Given the description of an element on the screen output the (x, y) to click on. 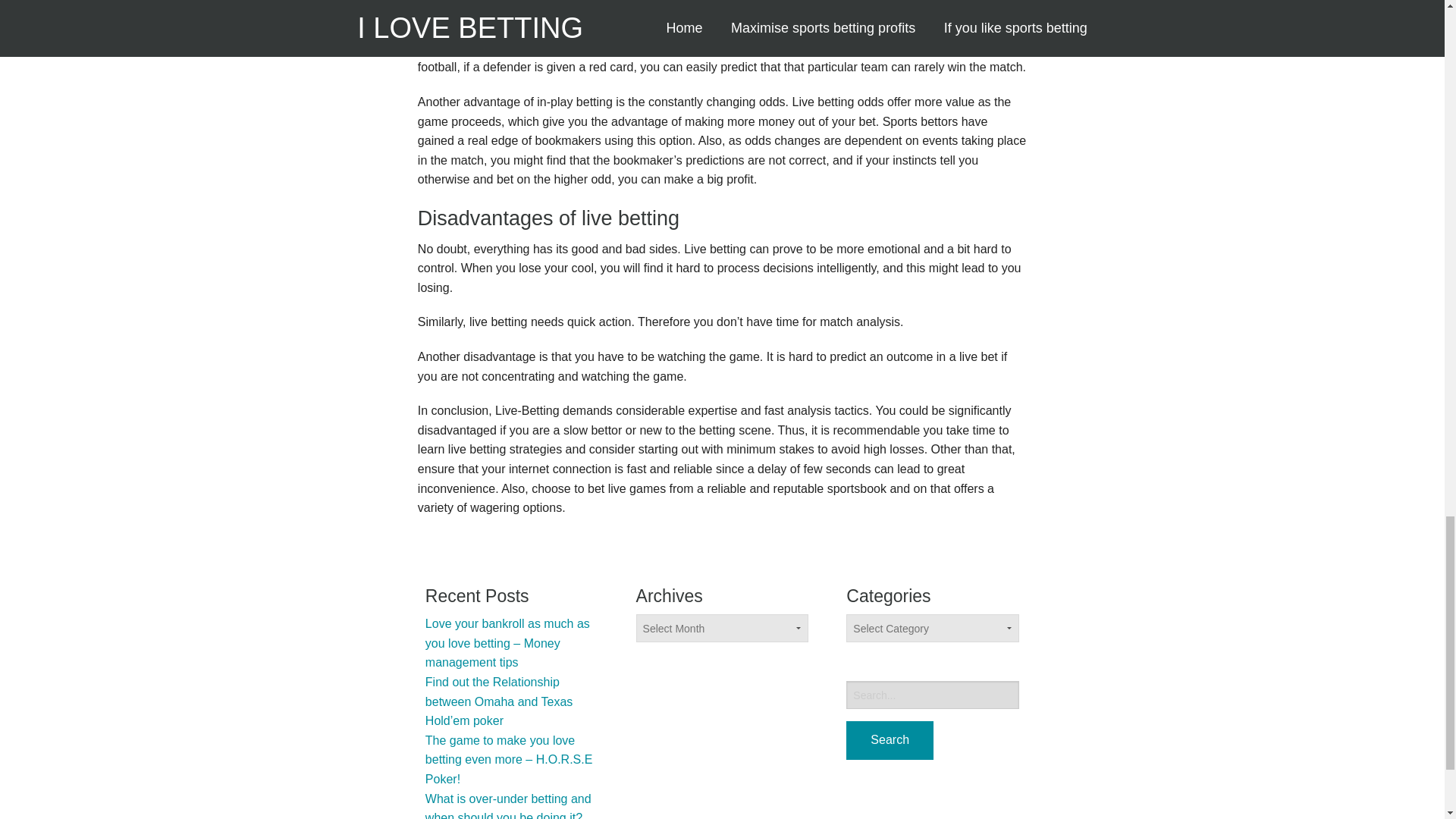
Search (889, 740)
Search (889, 740)
Search for: (932, 694)
What is over-under betting and when should you be doing it? (508, 805)
Search (889, 740)
